Given the description of an element on the screen output the (x, y) to click on. 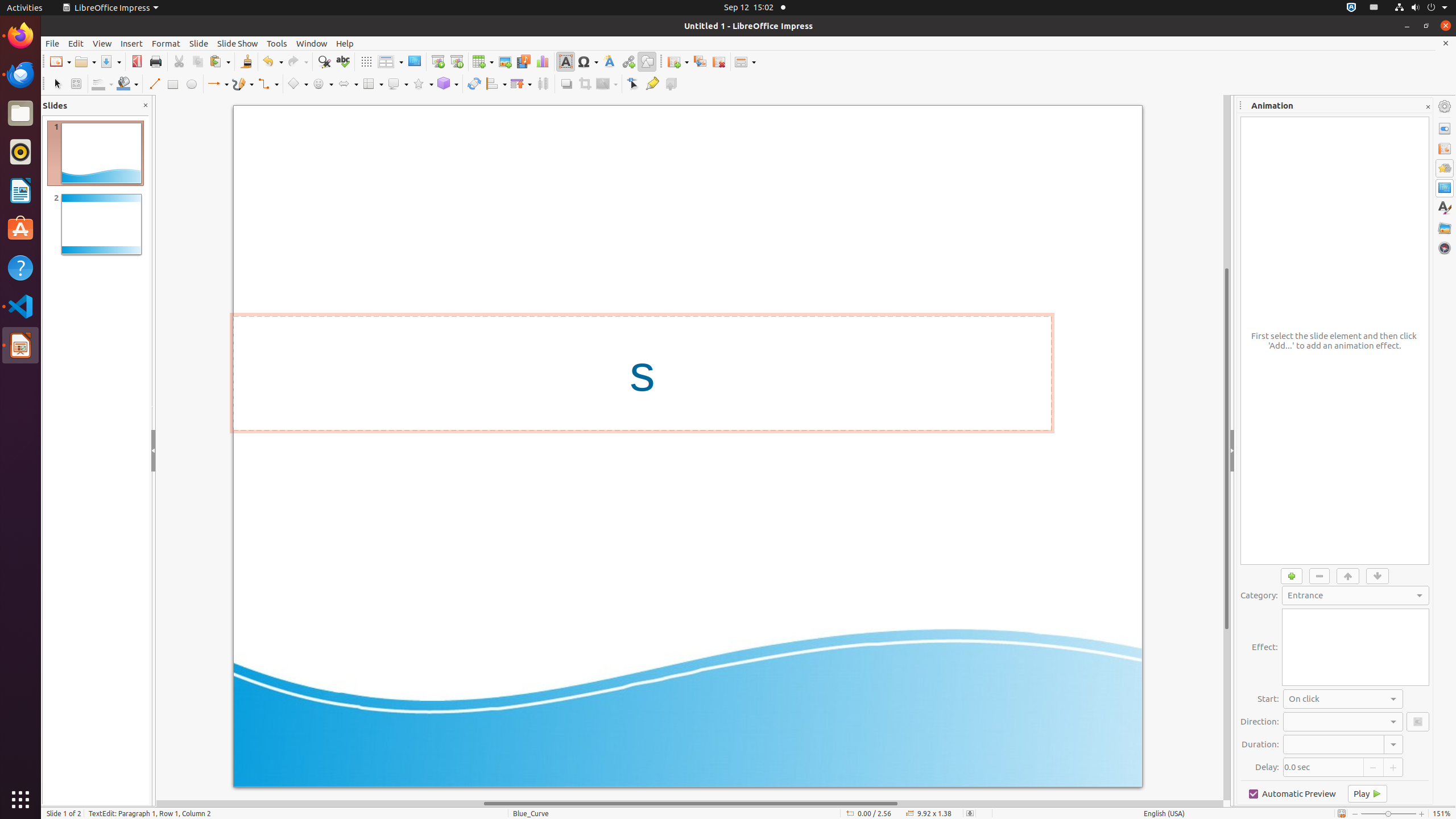
Move Down Element type: push-button (1377, 576)
Copy Element type: push-button (197, 61)
Insert Element type: menu (131, 43)
Print Element type: push-button (155, 61)
Remove Effect Element type: push-button (1319, 576)
